Given the description of an element on the screen output the (x, y) to click on. 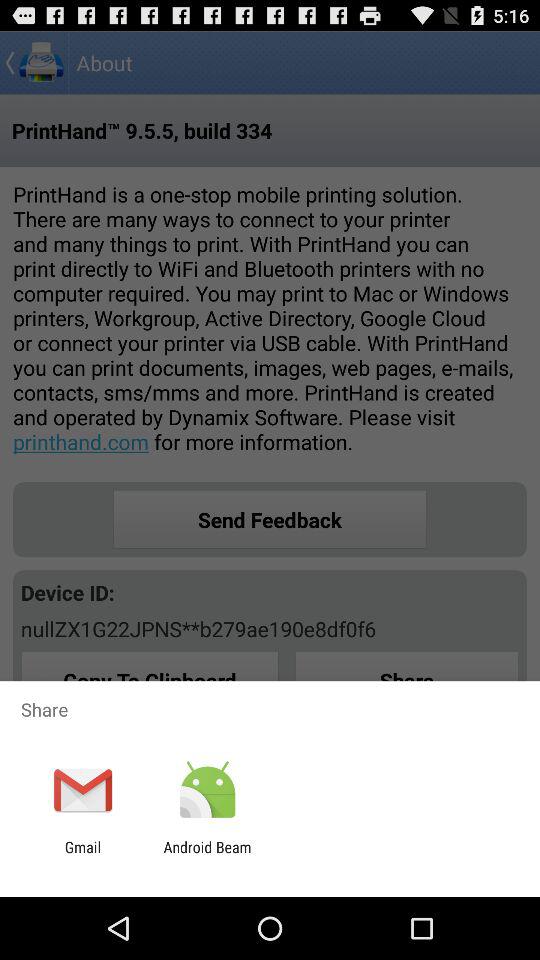
turn on app to the right of the gmail icon (207, 856)
